Given the description of an element on the screen output the (x, y) to click on. 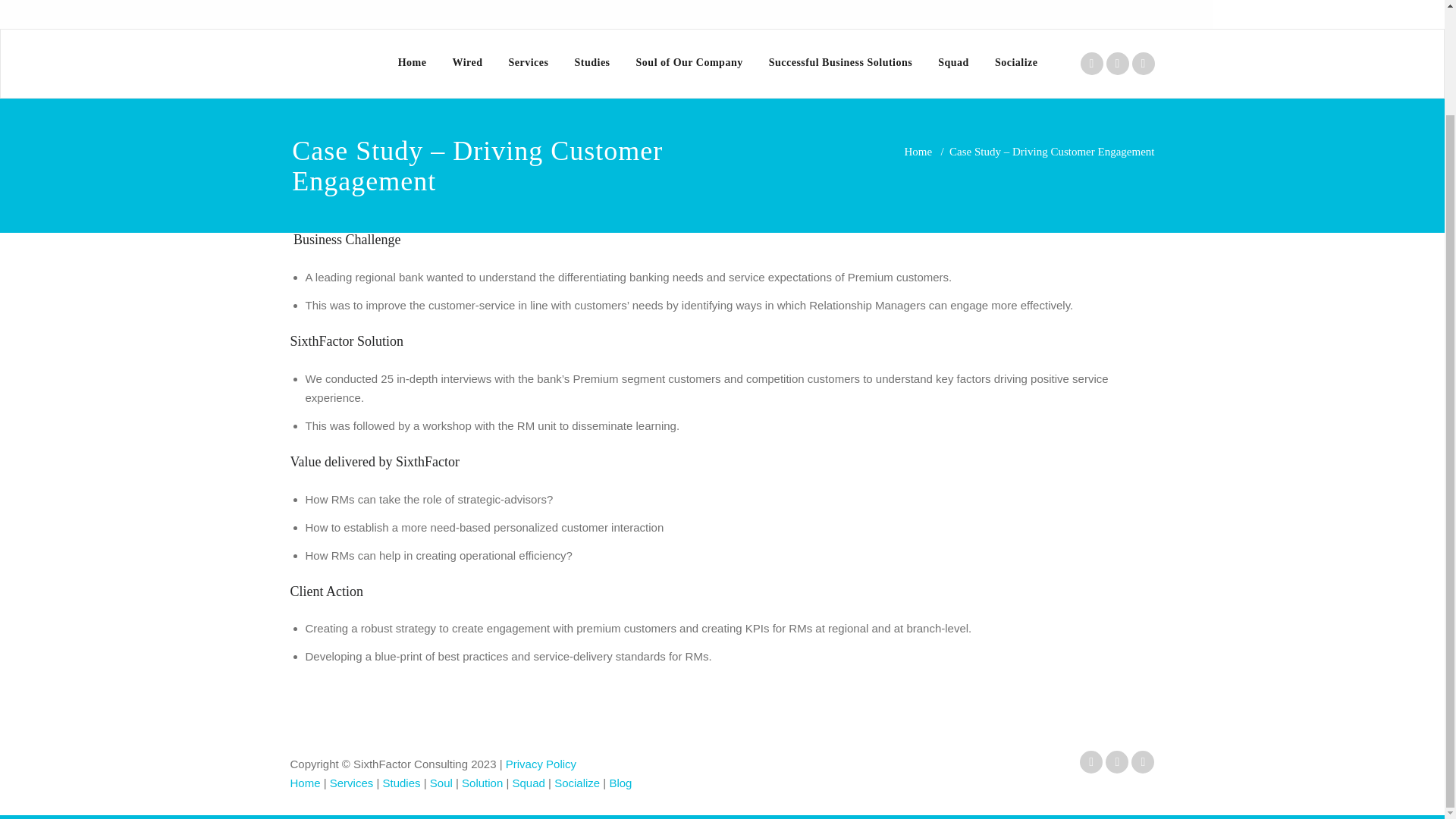
Soul (440, 782)
Home (412, 62)
Studies (401, 782)
Squad (952, 62)
Studies (591, 62)
Services (352, 782)
Home (918, 151)
Services (529, 62)
Socialize (576, 782)
Socialize (1016, 62)
